Given the description of an element on the screen output the (x, y) to click on. 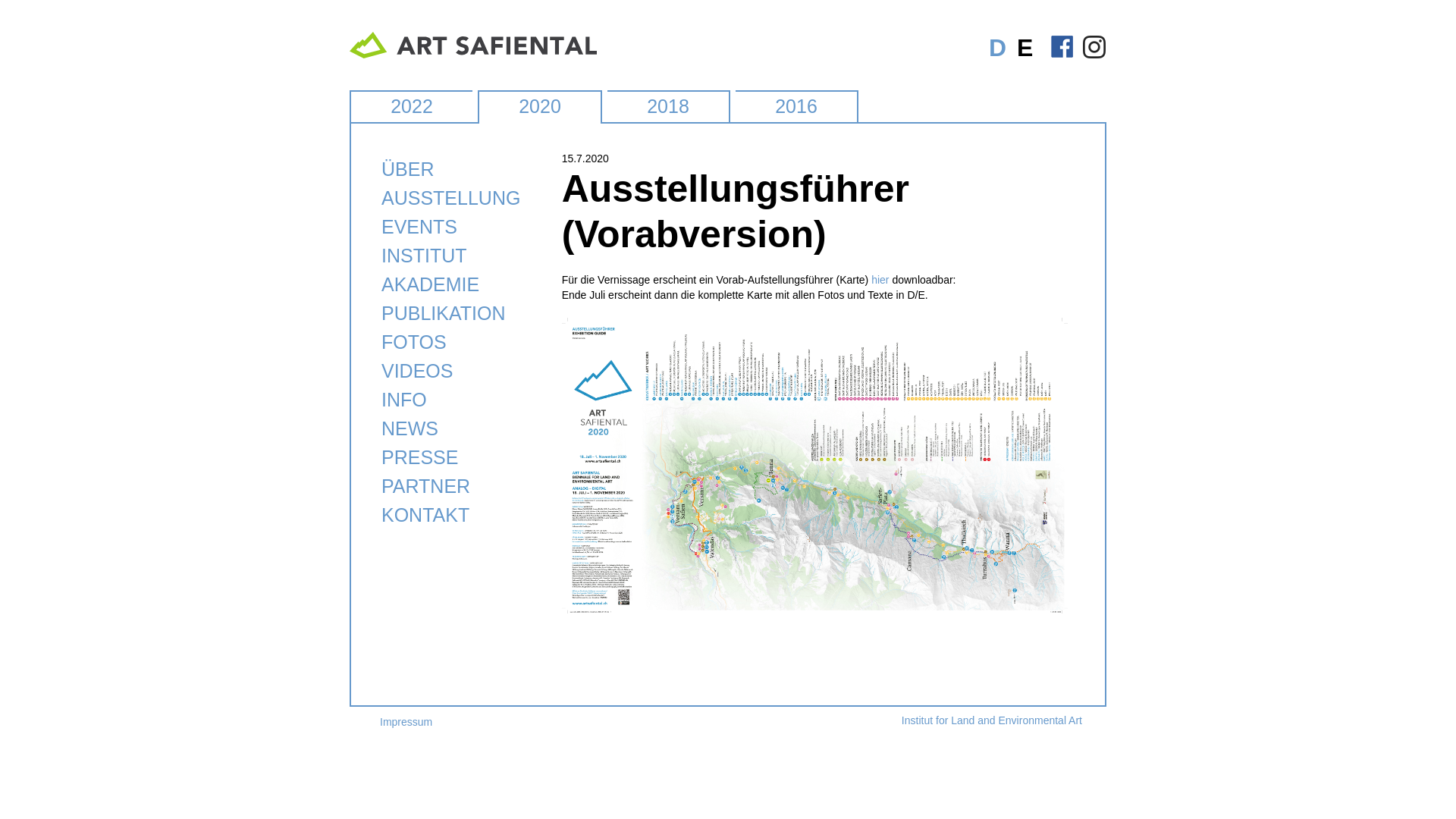
hier Element type: text (879, 279)
NEWS Element type: text (409, 428)
INSTITUT Element type: text (424, 255)
INFO Element type: text (403, 399)
VIDEOS Element type: text (416, 370)
2022 Element type: text (411, 105)
EVENTS Element type: text (419, 226)
2016 Element type: text (796, 105)
D Element type: text (997, 47)
PARTNER Element type: text (425, 485)
2020 Element type: text (539, 105)
AUSSTELLUNG Element type: text (450, 197)
Home Element type: hover (472, 54)
Facebook Element type: hover (1061, 50)
PUBLIKATION Element type: text (443, 312)
FOTOS Element type: text (413, 341)
2018 Element type: text (667, 105)
KONTAKT Element type: text (425, 514)
Instragram Element type: hover (1093, 50)
Institut for Land and Environmental Art Element type: text (991, 720)
PRESSE Element type: text (419, 456)
E Element type: text (1024, 47)
Impressum Element type: text (405, 721)
AKADEMIE Element type: text (430, 283)
